Given the description of an element on the screen output the (x, y) to click on. 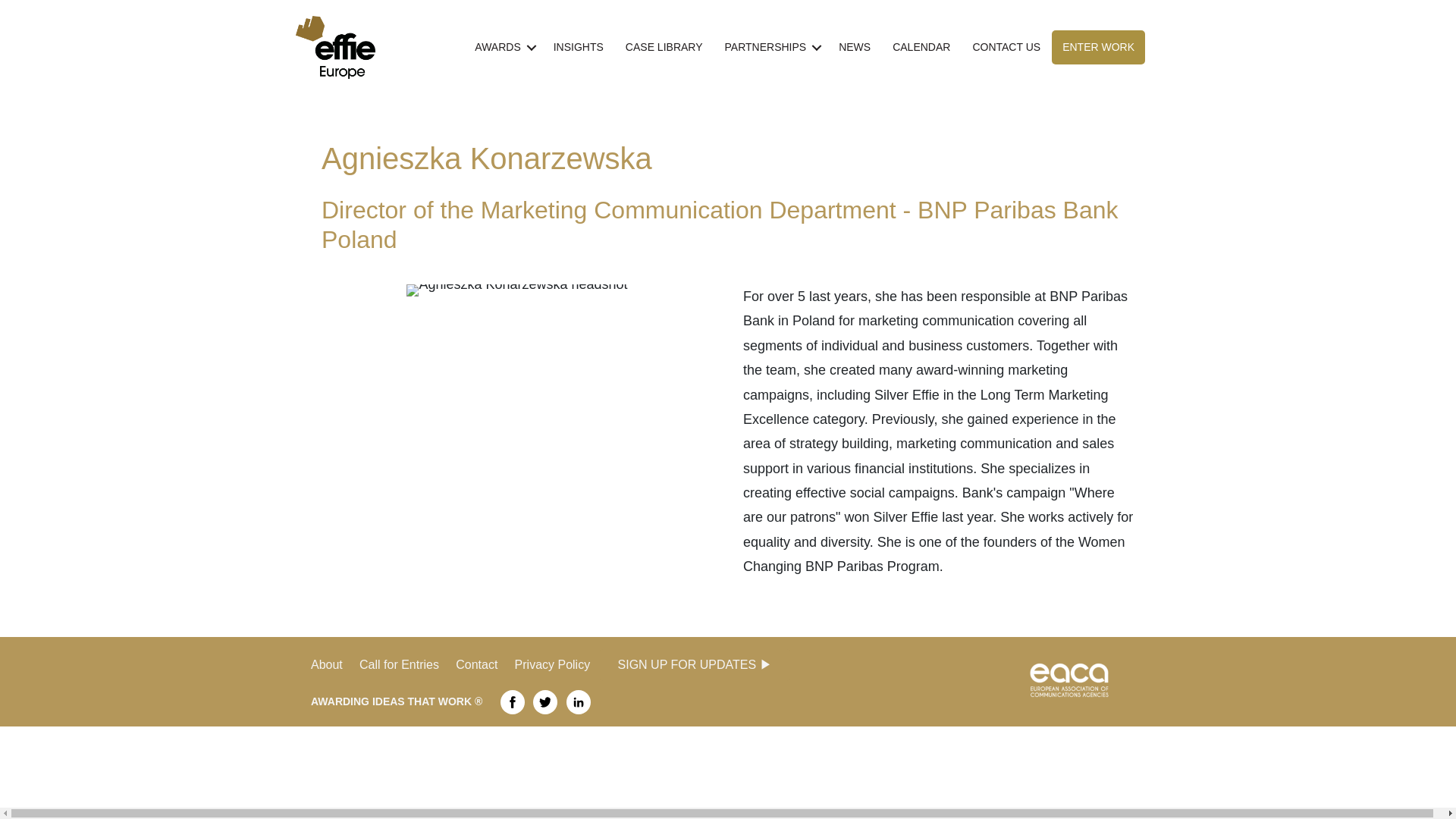
CASE LIBRARY (663, 47)
CALENDAR (921, 47)
Agnieszka Konarzewska (516, 290)
NEWS (854, 47)
ENTER WORK (1097, 47)
CONTACT US (1005, 47)
Contact     (484, 664)
PARTNERSHIPS (771, 47)
Call for Entries     (407, 664)
AWARDS (502, 47)
About (326, 664)
Privacy Policy (553, 664)
INSIGHTS (578, 47)
